Given the description of an element on the screen output the (x, y) to click on. 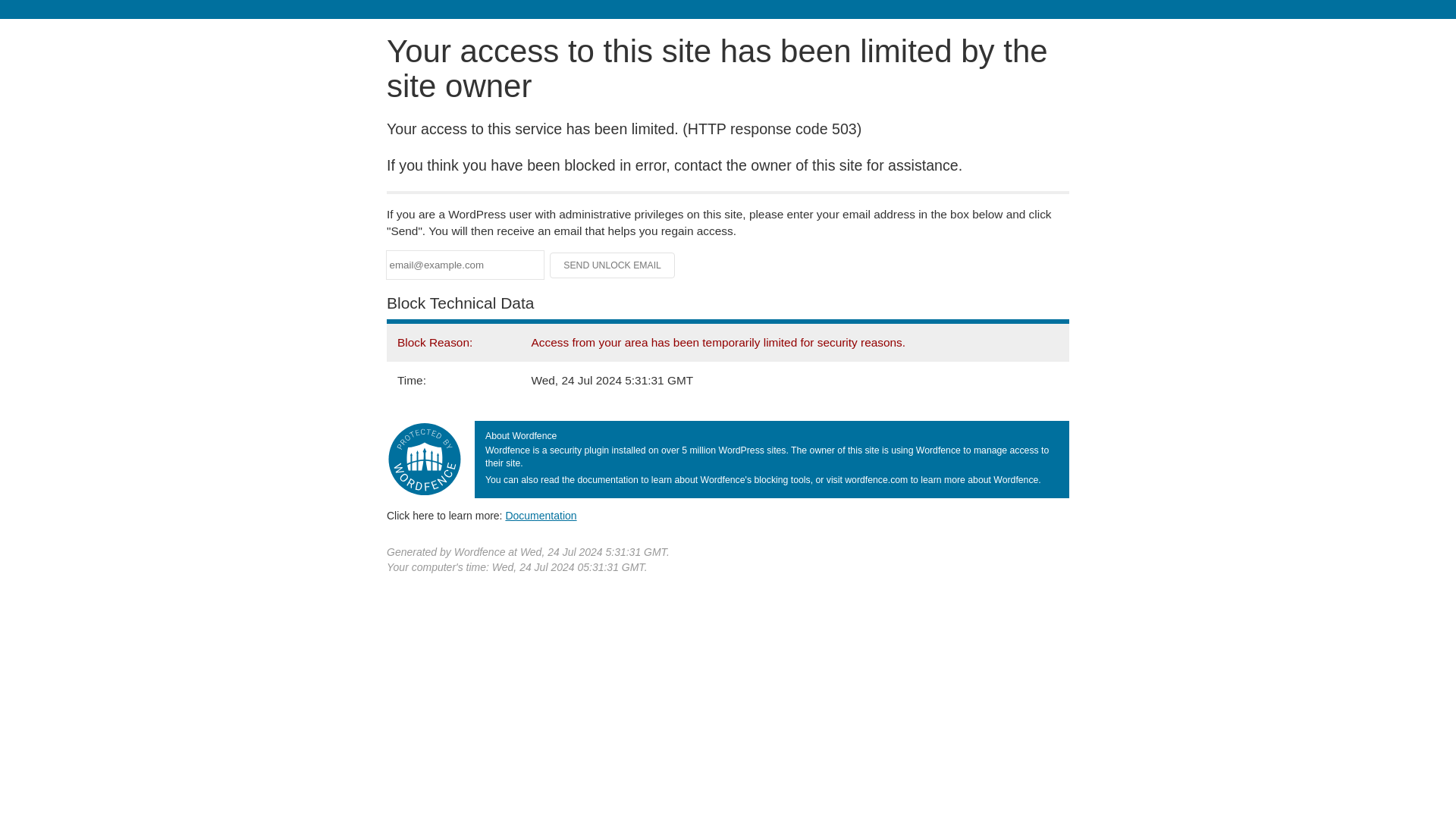
Send Unlock Email (612, 265)
Documentation (540, 515)
Send Unlock Email (612, 265)
